Given the description of an element on the screen output the (x, y) to click on. 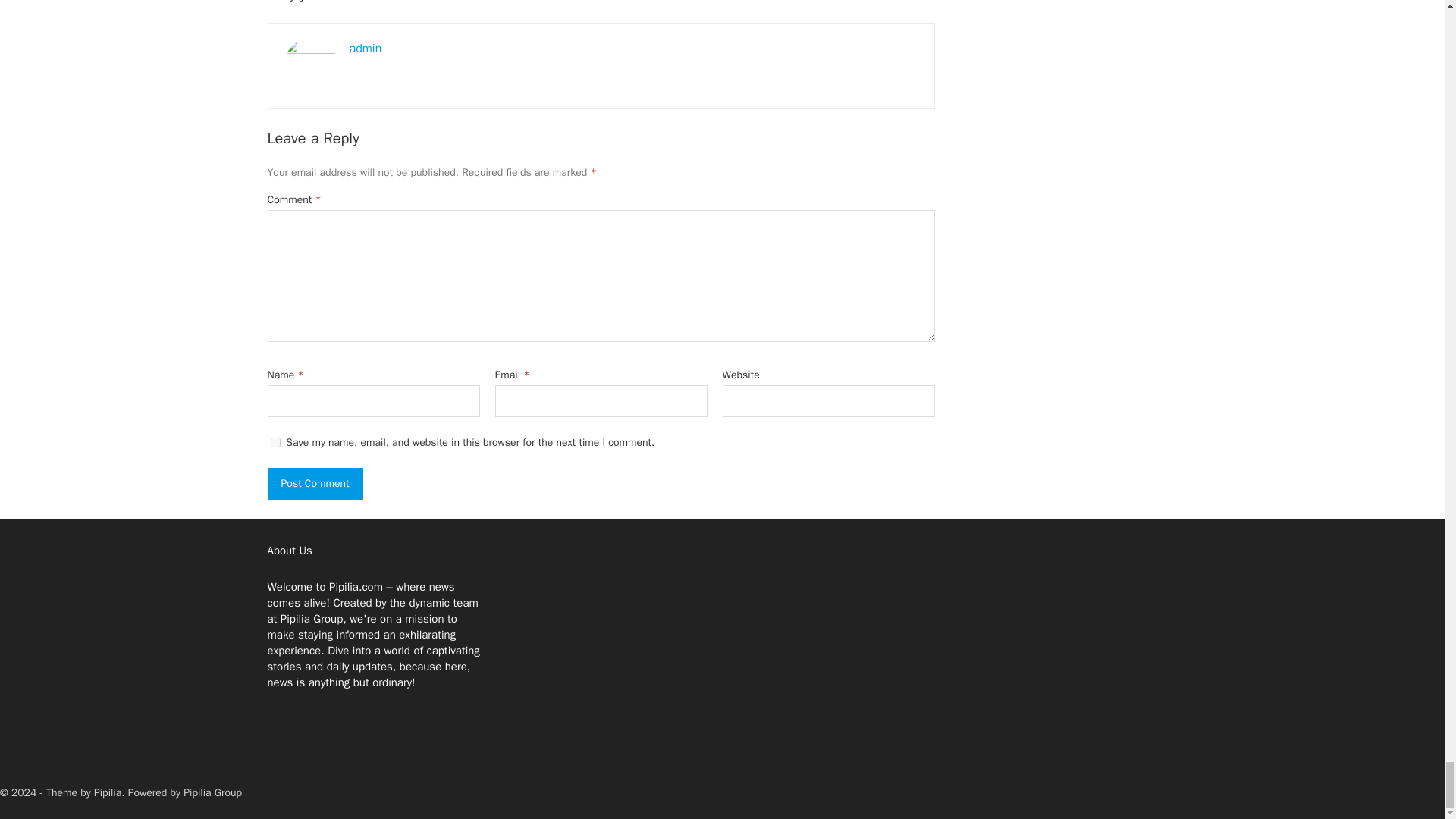
admin (365, 48)
Post Comment (314, 483)
Post Comment (314, 483)
yes (274, 442)
